Given the description of an element on the screen output the (x, y) to click on. 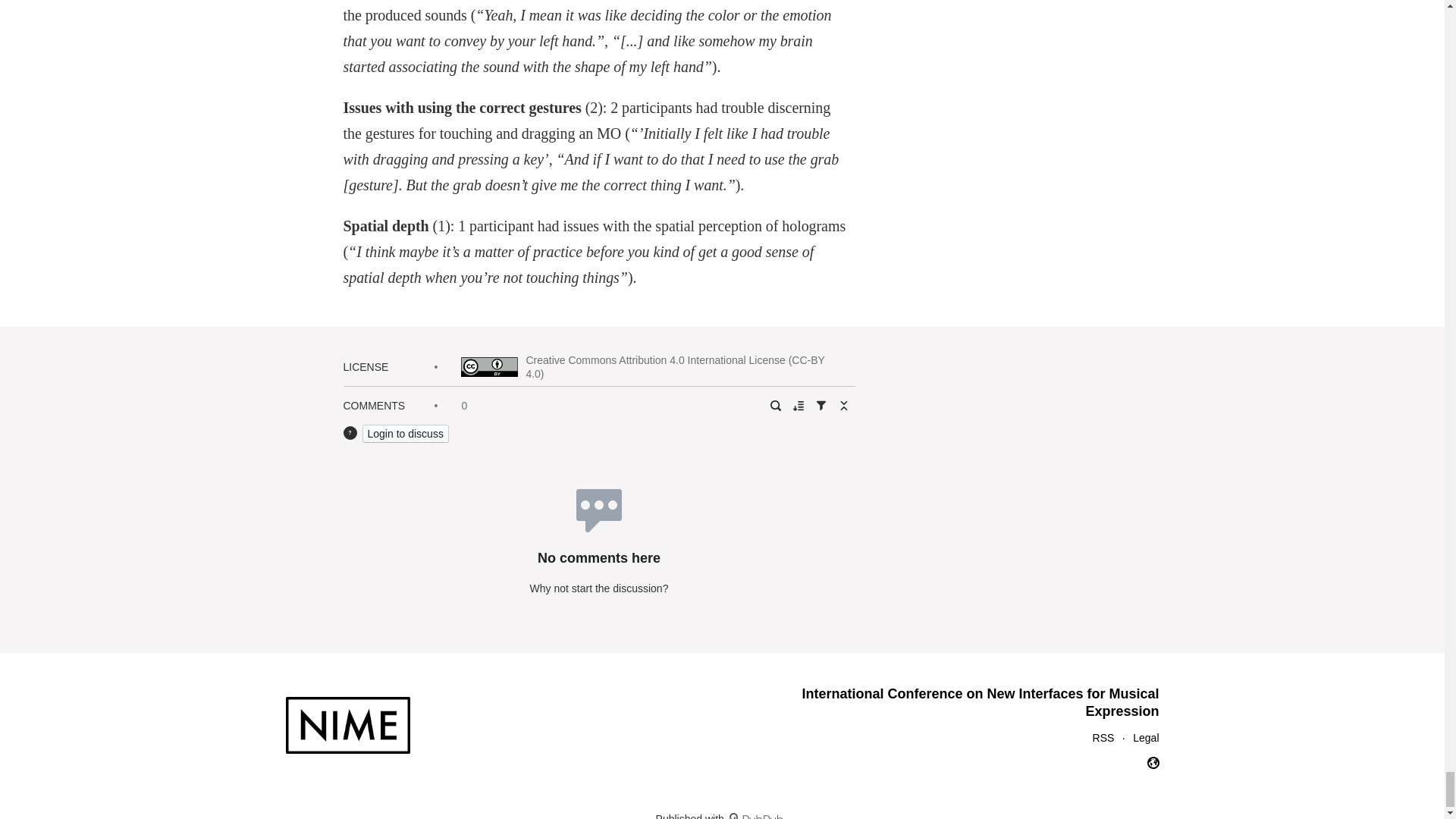
Login to discuss (405, 434)
RSS (1104, 737)
Legal (1145, 737)
Published with (722, 815)
